Given the description of an element on the screen output the (x, y) to click on. 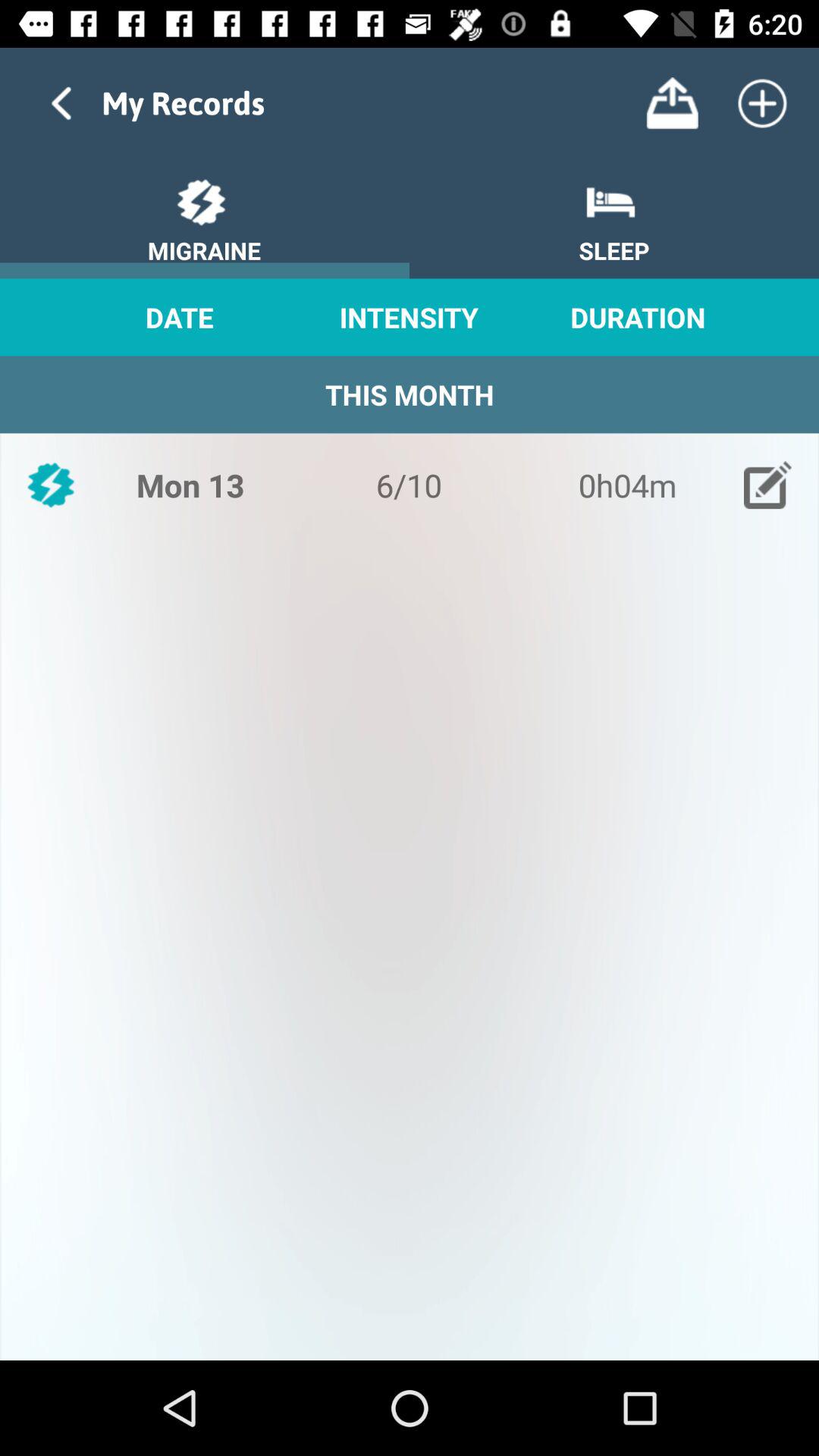
export (672, 103)
